Given the description of an element on the screen output the (x, y) to click on. 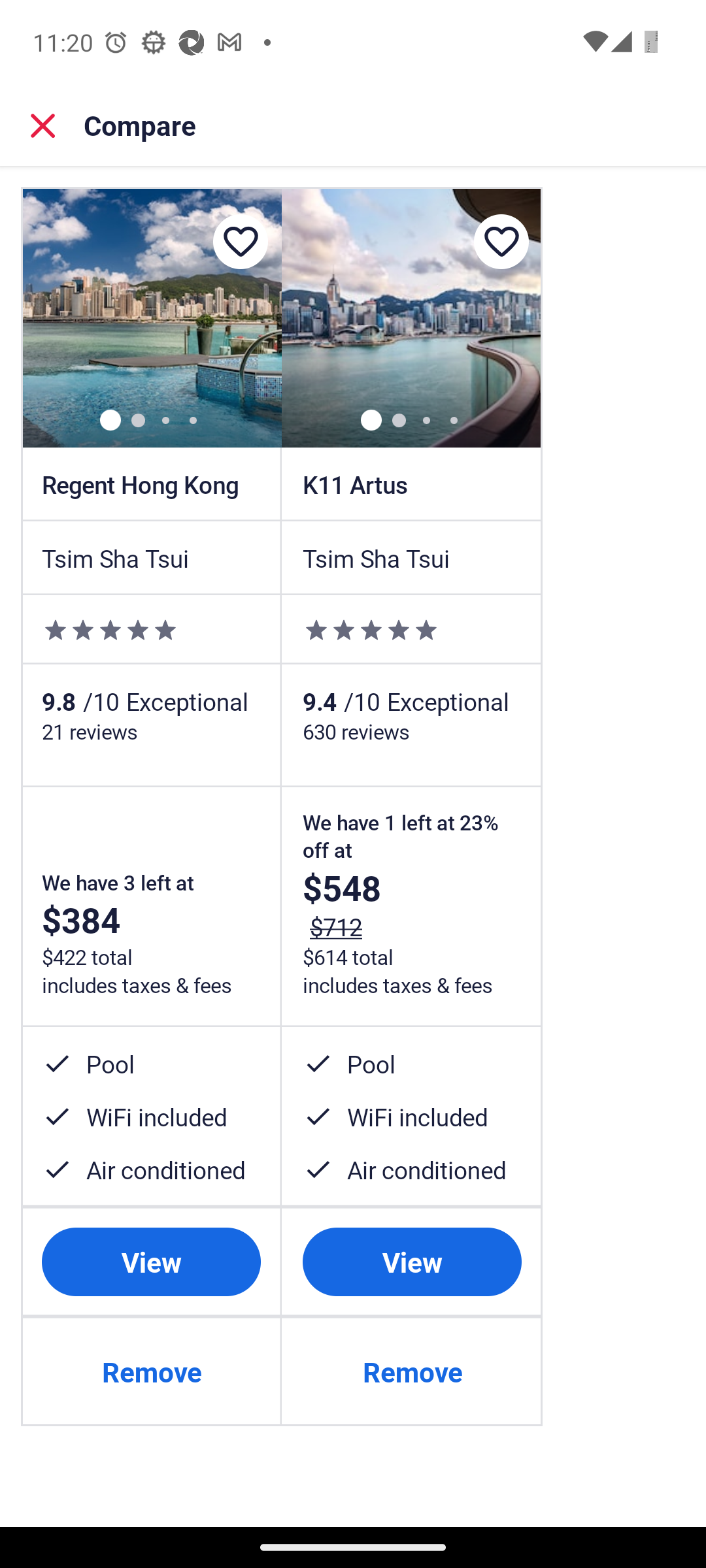
Close, back to property search. (43, 125)
Save Regent Hong Kong to a trip (240, 241)
Save K11 Artus to a trip (501, 241)
